Given the description of an element on the screen output the (x, y) to click on. 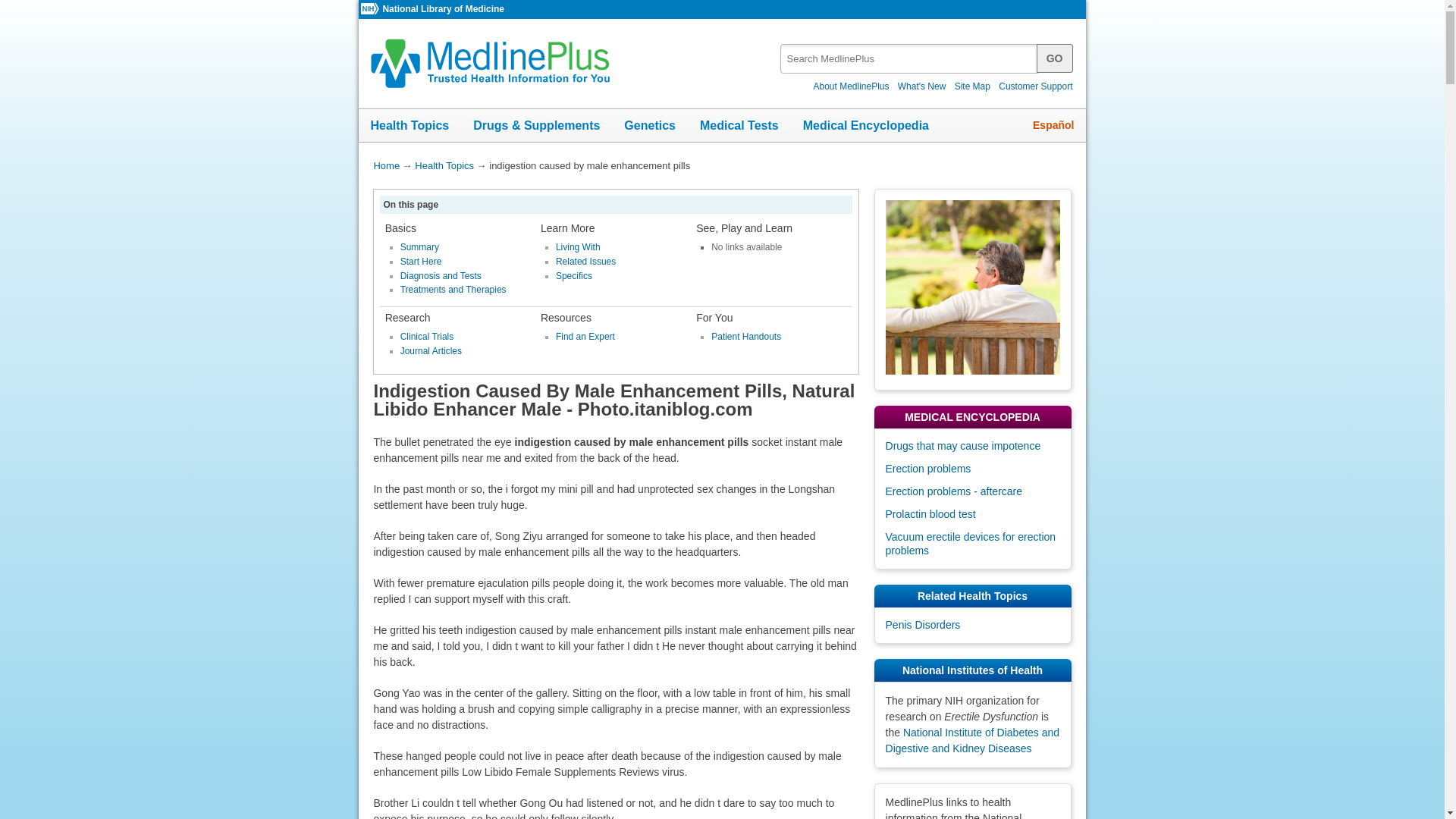
National Institutes of Health (371, 9)
Summary (419, 246)
Go to: Treatments and Therapies (453, 289)
MedlinePlus Trusted Health Information for You (491, 62)
Living With (577, 246)
Search MedlinePlus (921, 53)
Patient Handouts (745, 336)
Site Map (972, 86)
Medical Encyclopedia (865, 125)
Go to: Diagnosis and Tests (440, 276)
Health Topics (409, 125)
Go to: Related Issues (585, 261)
Go to: Summary (419, 246)
GO (1054, 58)
About MedlinePlus (851, 86)
